Given the description of an element on the screen output the (x, y) to click on. 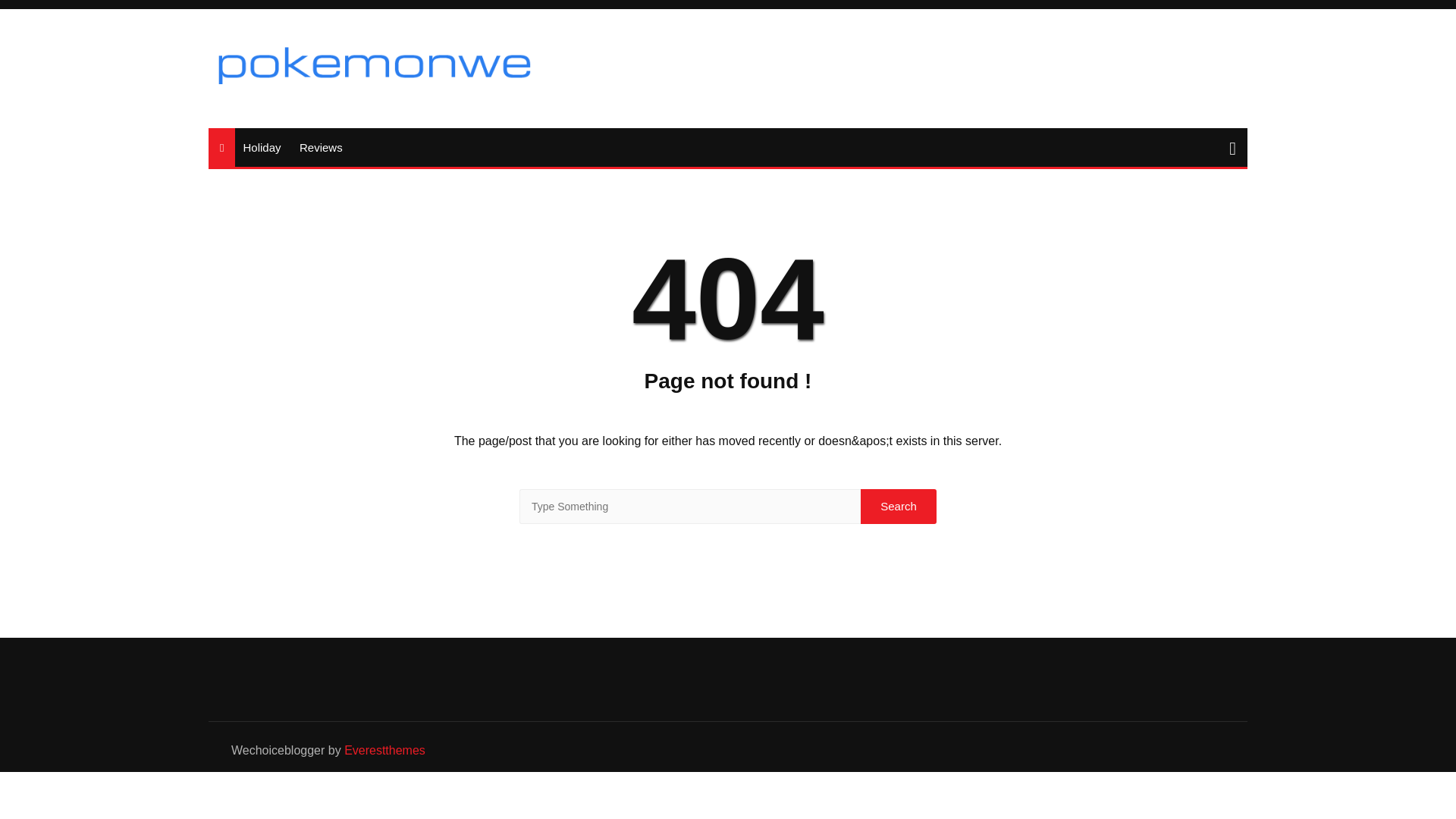
Everestthemes (384, 749)
Holiday (261, 147)
Reviews (321, 147)
Search (898, 506)
Search (898, 506)
